Given the description of an element on the screen output the (x, y) to click on. 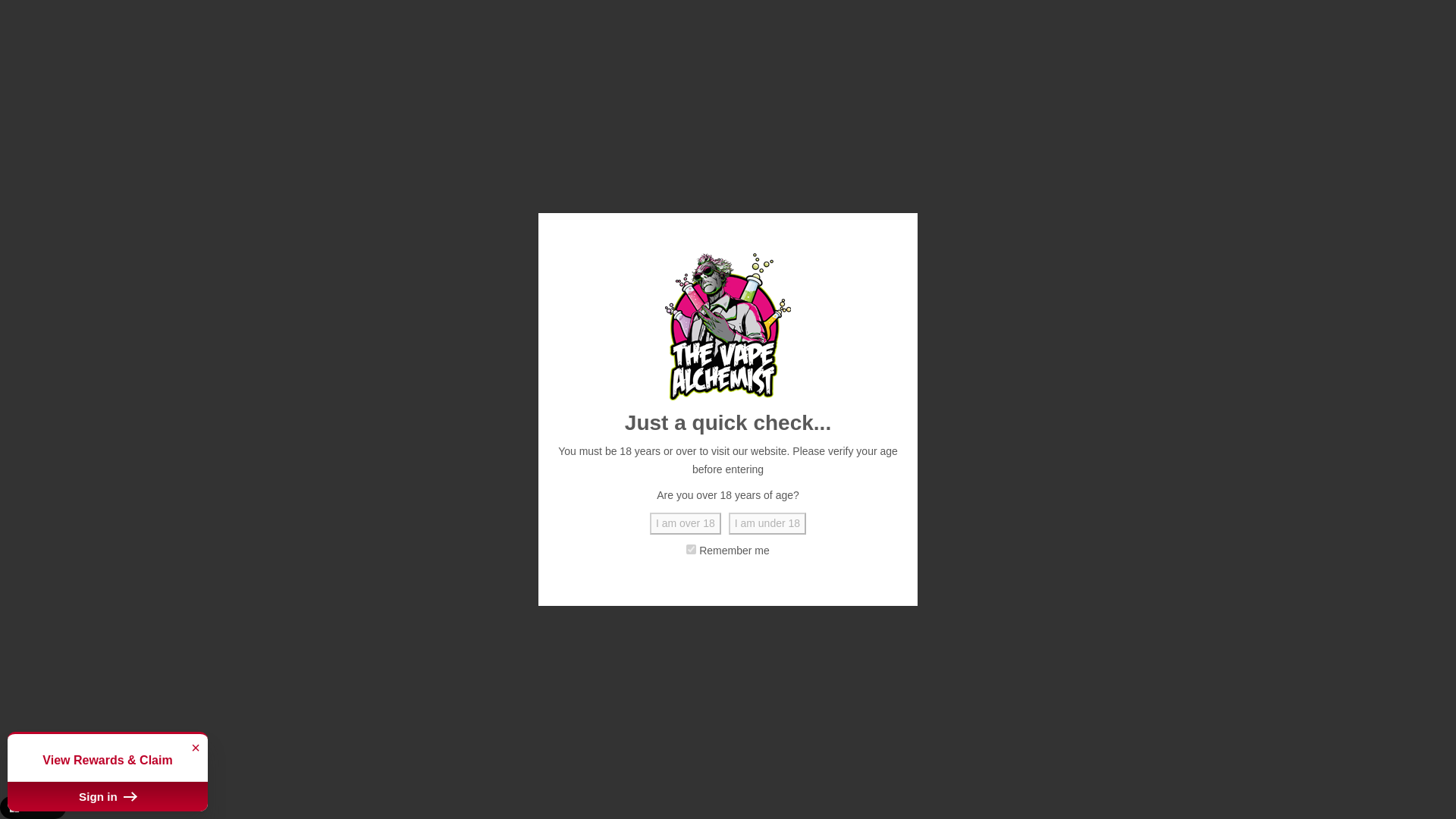
1 (690, 549)
search (967, 73)
1 (845, 474)
VAPING PRODUCTS (317, 131)
Customer reviews powered by Trustpilot (727, 16)
VG (253, 773)
I am under 18 (767, 523)
E-LIQUID (218, 131)
0 (1249, 74)
I am over 18 (684, 523)
01270 368814 (236, 17)
